Given the description of an element on the screen output the (x, y) to click on. 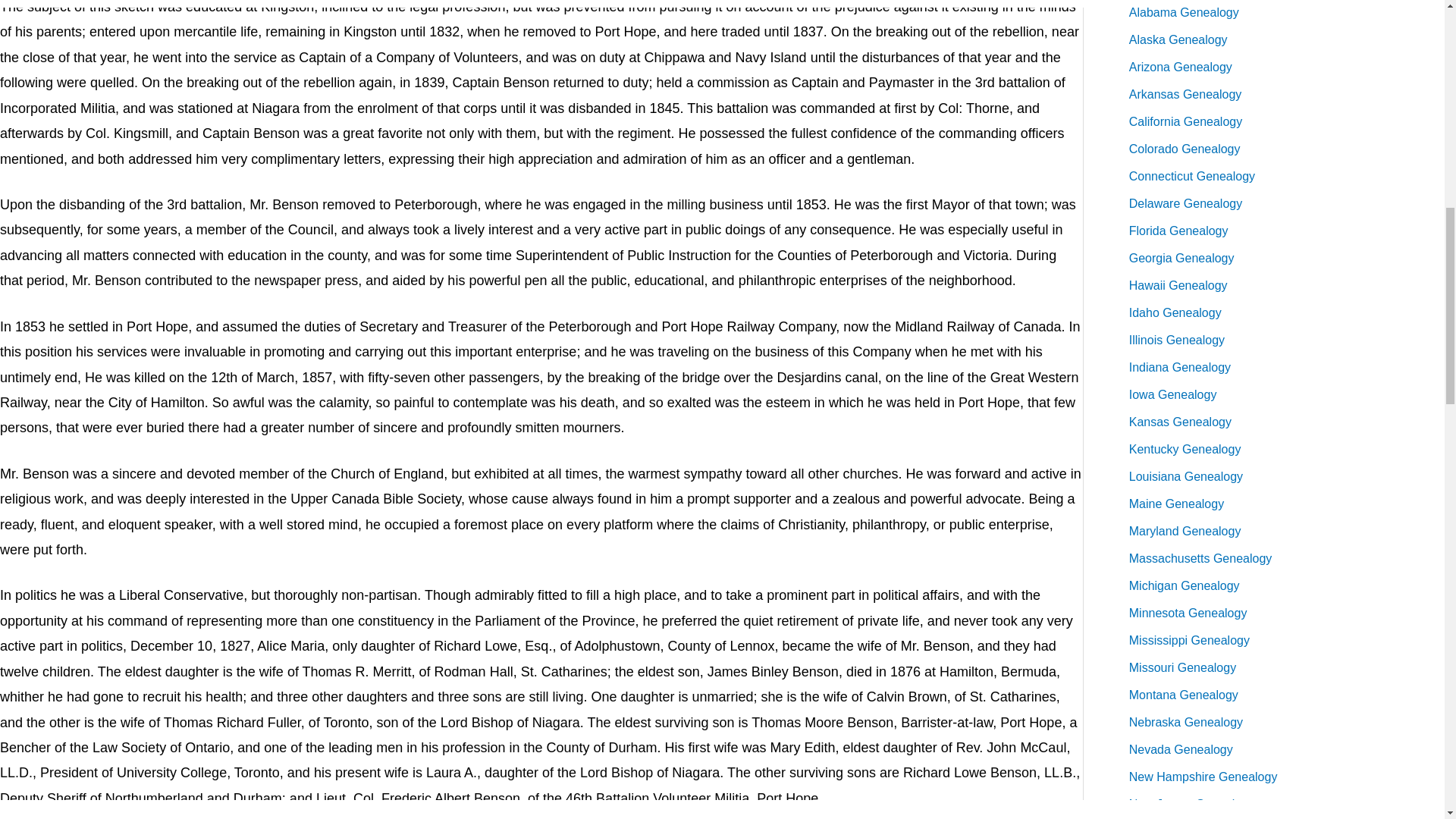
Alaska Genealogy (1178, 39)
Arizona Genealogy (1180, 66)
Georgia Genealogy (1181, 257)
Arkansas Genealogy (1185, 93)
Arkansas Genealogy (1185, 93)
Colorado Genealogy (1184, 148)
Florida Genealogy (1178, 230)
Connecticut Genealogy (1192, 175)
Hawaii Genealogy (1178, 285)
Alaska Genealogy (1178, 39)
